Given the description of an element on the screen output the (x, y) to click on. 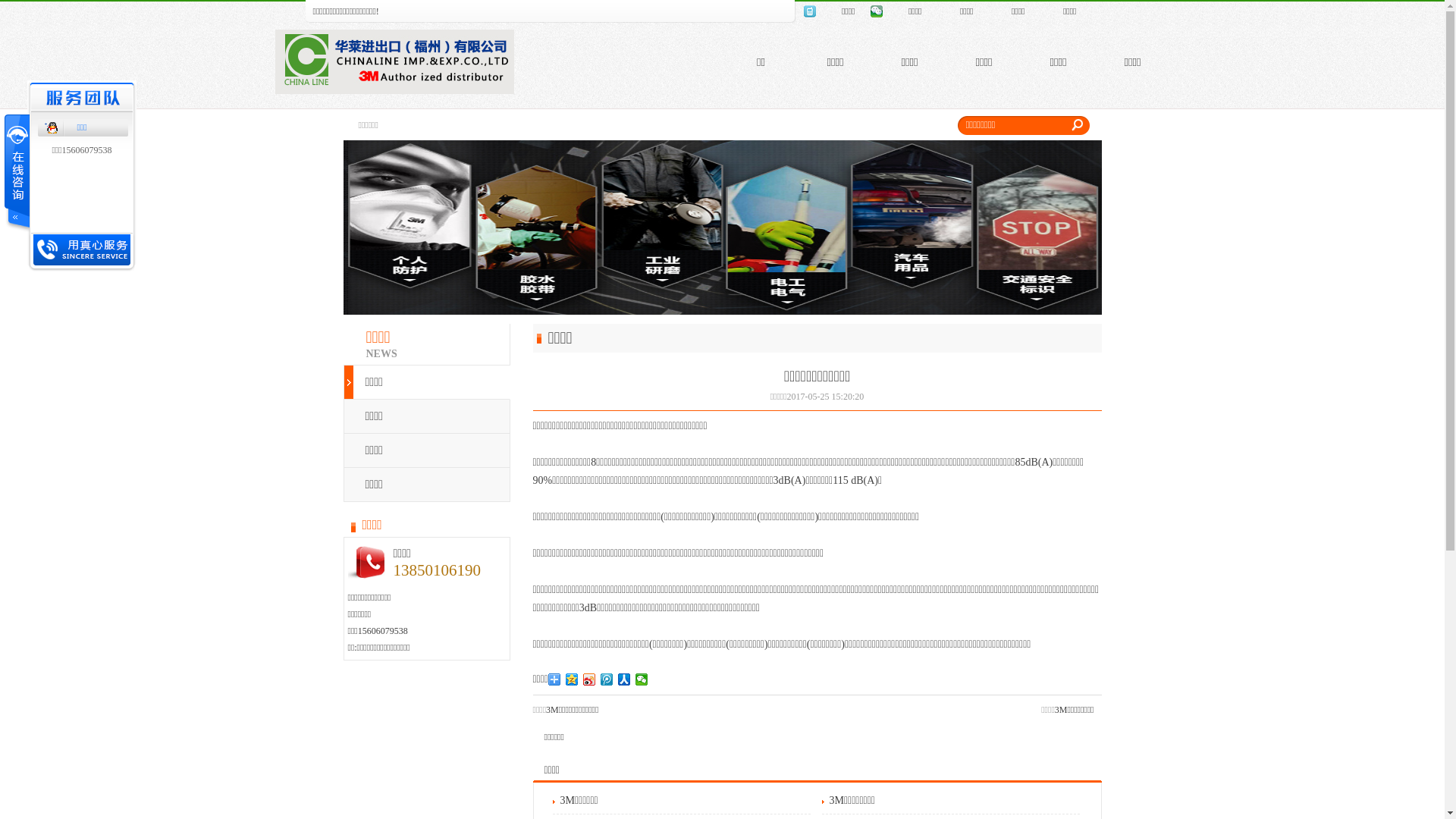
  Element type: text (15, 172)
